Given the description of an element on the screen output the (x, y) to click on. 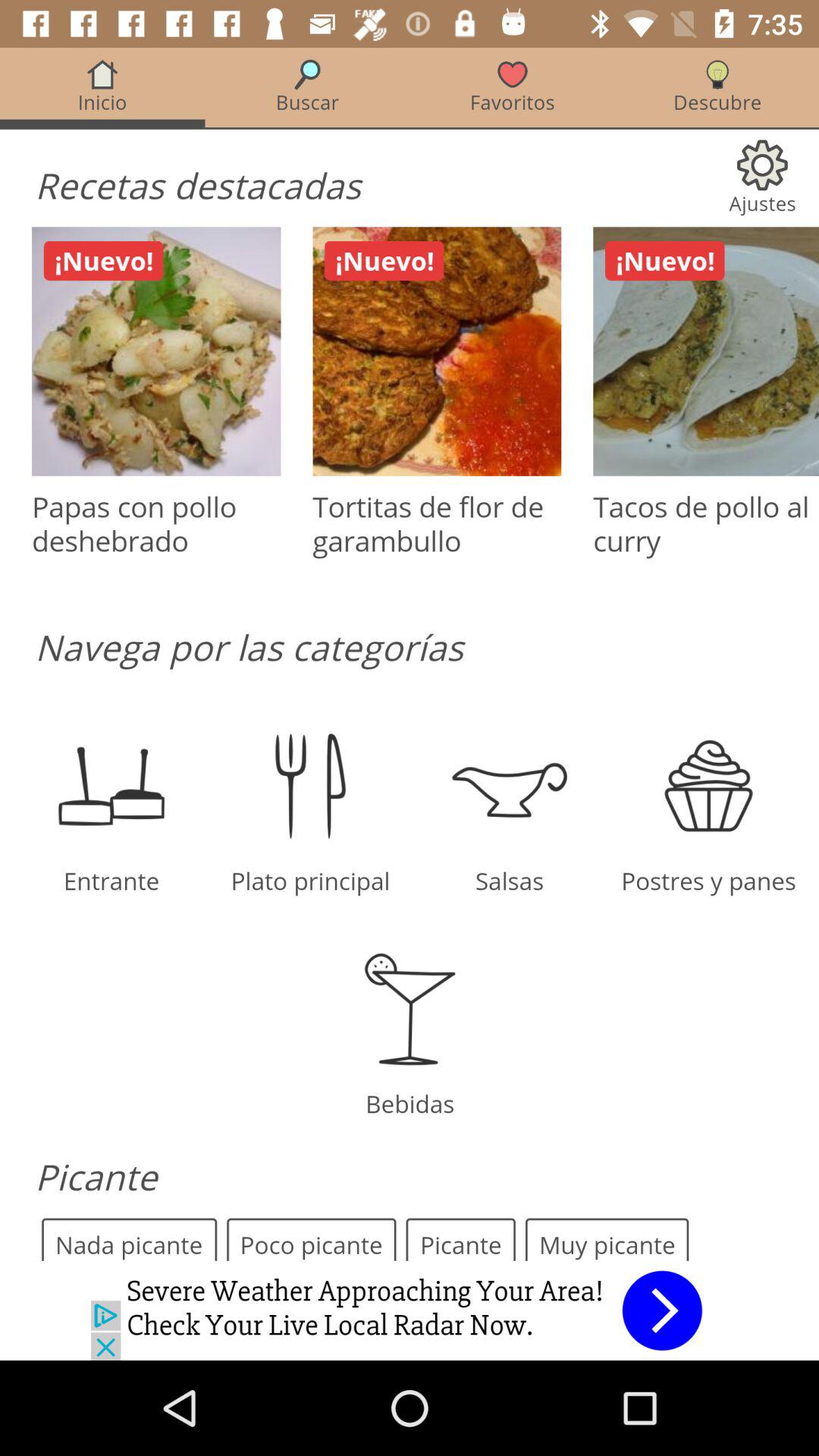
advertisement (409, 1310)
